Given the description of an element on the screen output the (x, y) to click on. 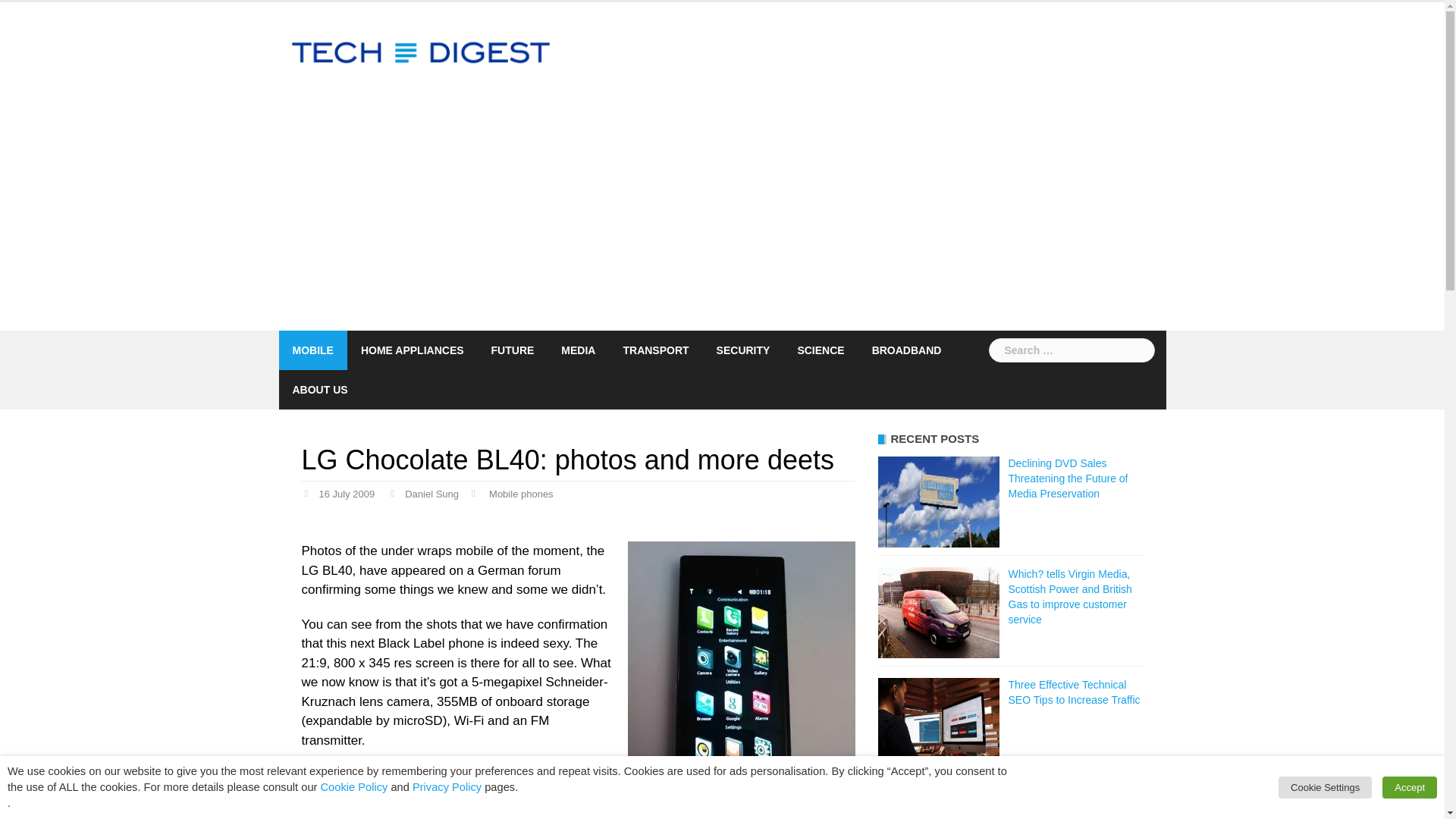
Tech Digest (421, 51)
FUTURE (513, 350)
HOME APPLIANCES (412, 350)
MOBILE (312, 350)
